Given the description of an element on the screen output the (x, y) to click on. 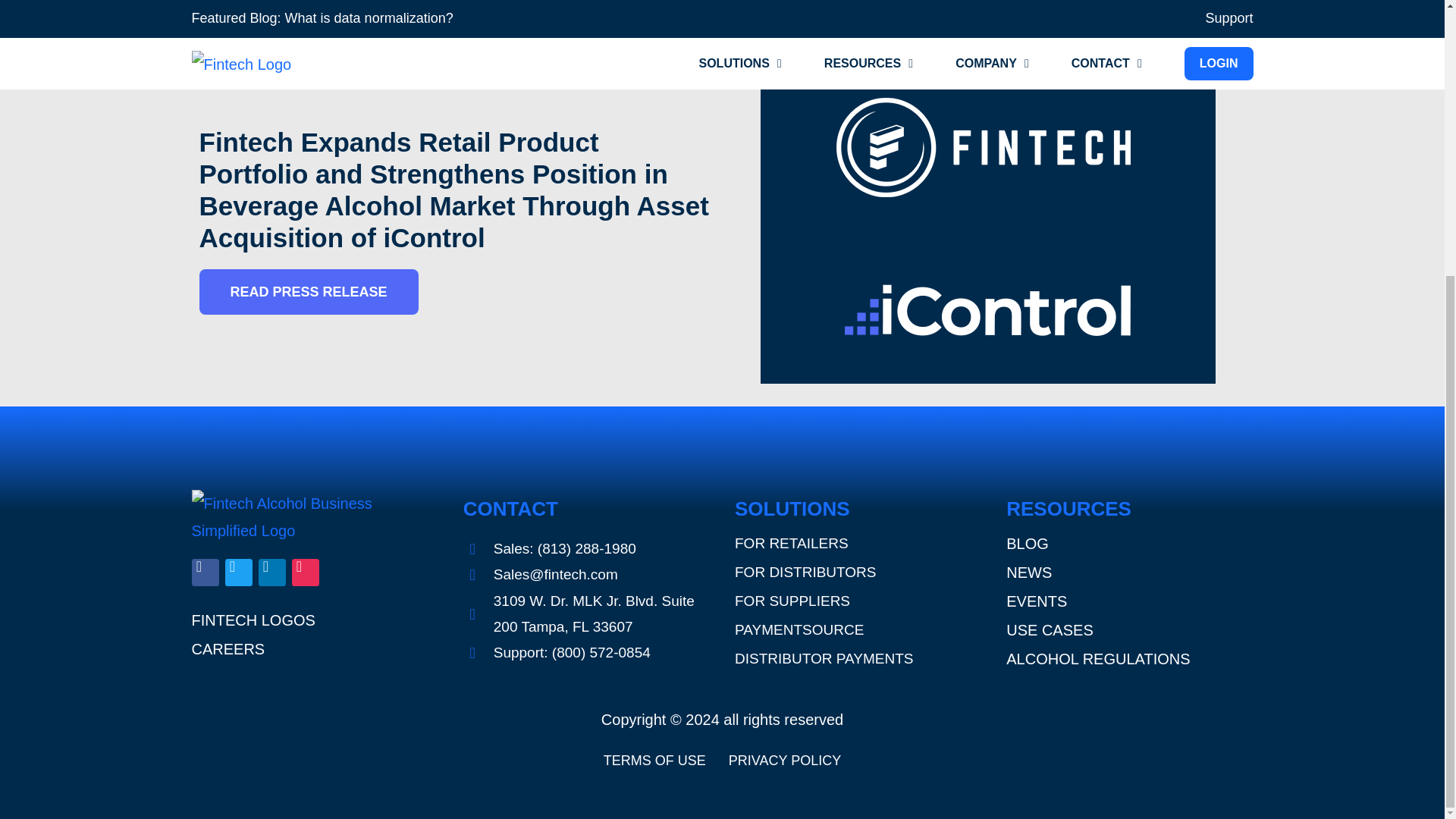
Fintech-logo-alcohol-business-simplified-white-horizontal (311, 516)
READ PRESS RELEASE (307, 291)
